Given the description of an element on the screen output the (x, y) to click on. 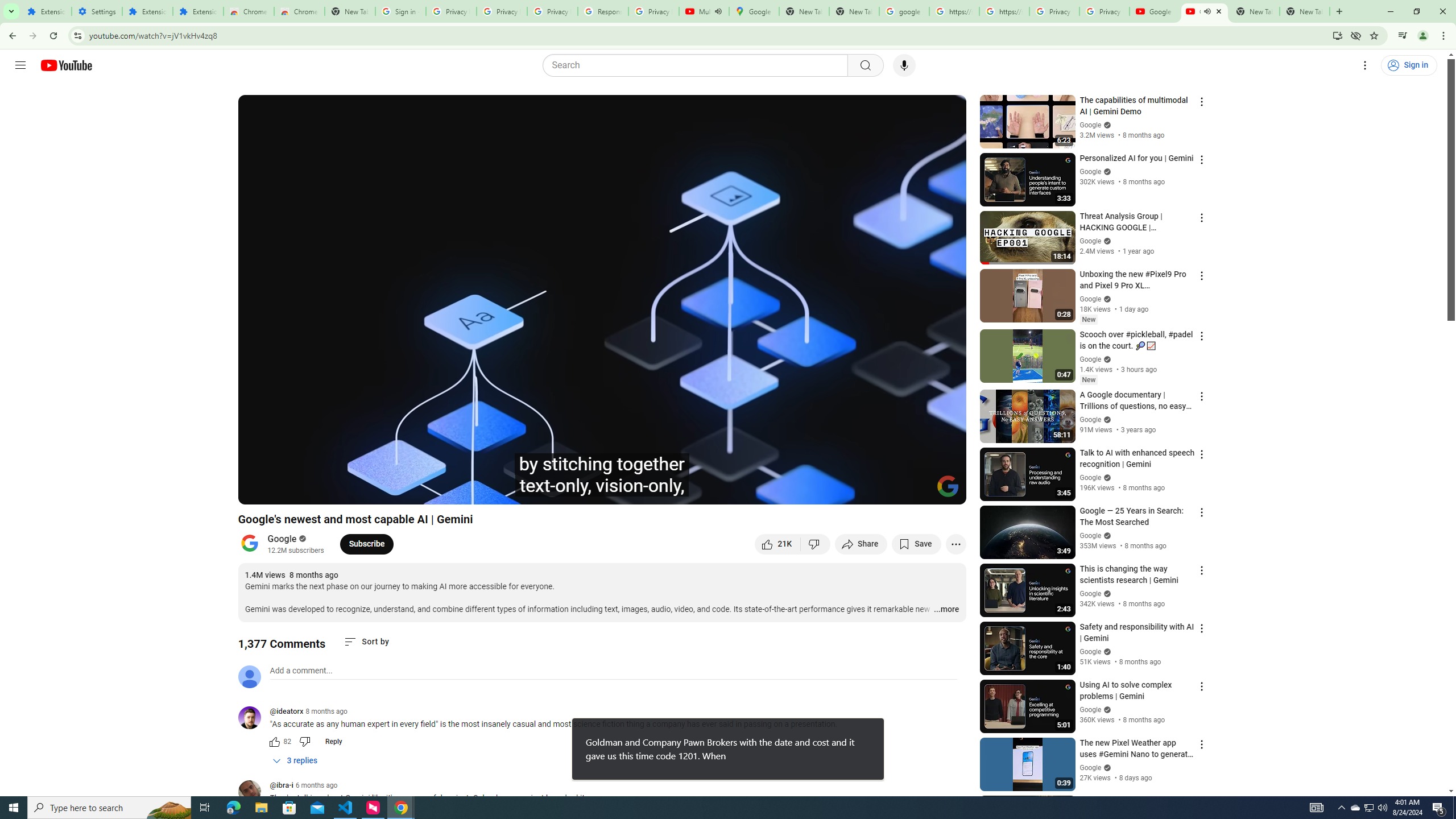
Subtitles/closed captions unavailable (836, 490)
More actions (955, 543)
Sign in - Google Accounts (399, 11)
AutomationID: simplebox-placeholder (301, 670)
Chrome Web Store (248, 11)
Extensions (46, 11)
New Tab (1304, 11)
Action menu (1200, 802)
Full screen (f) (945, 490)
